Given the description of an element on the screen output the (x, y) to click on. 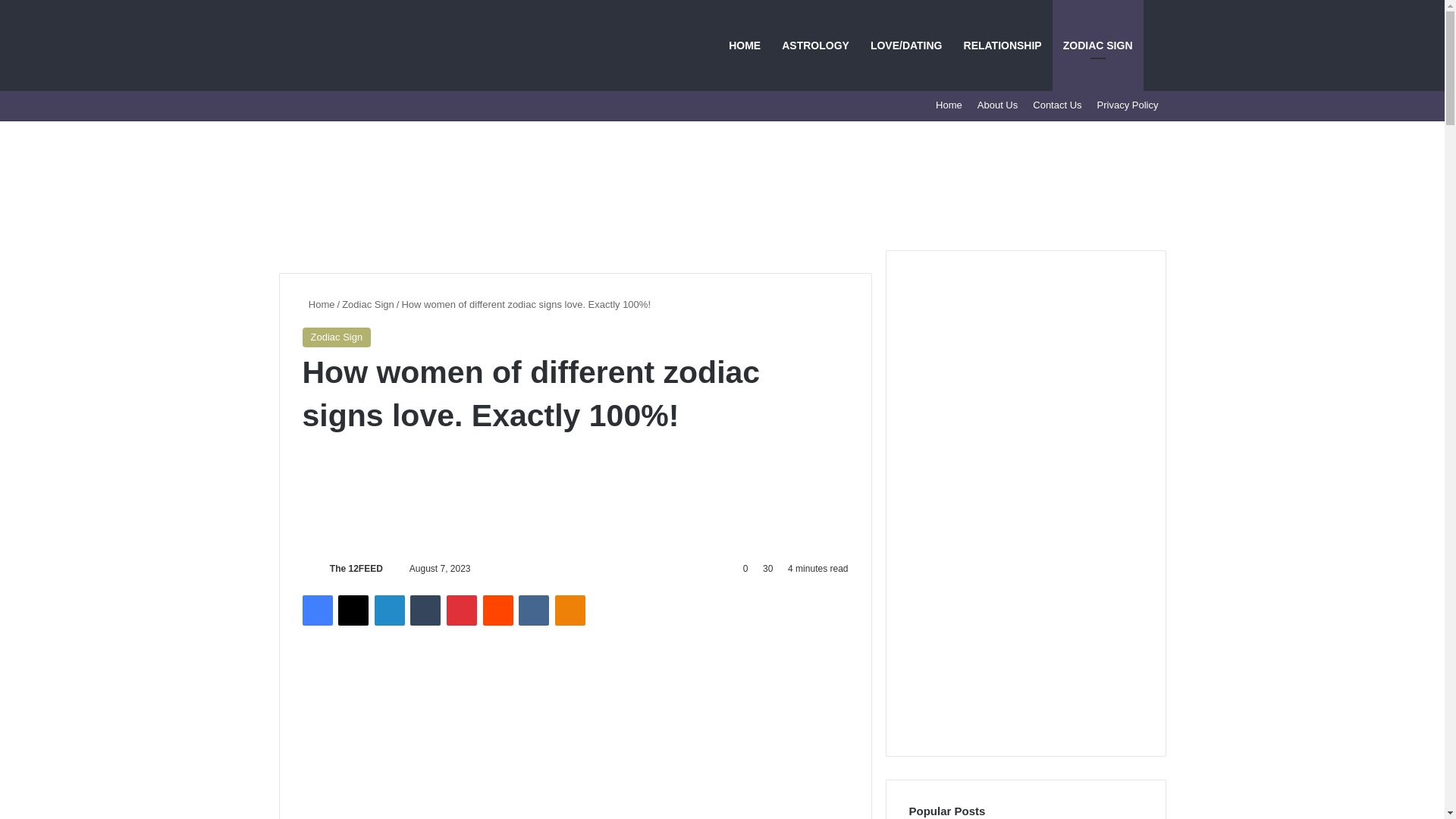
The 12FEED (356, 568)
Zodiac Sign (368, 304)
Reddit (498, 610)
VKontakte (533, 610)
Odnoklassniki (569, 610)
Zodiac Sign (336, 337)
Contact Us (1057, 105)
Tumblr (425, 610)
Privacy Policy (1127, 105)
ZODIAC SIGN (1097, 45)
Home (317, 304)
Facebook (316, 610)
RELATIONSHIP (1002, 45)
The 12FEED (356, 568)
Tumblr (425, 610)
